Given the description of an element on the screen output the (x, y) to click on. 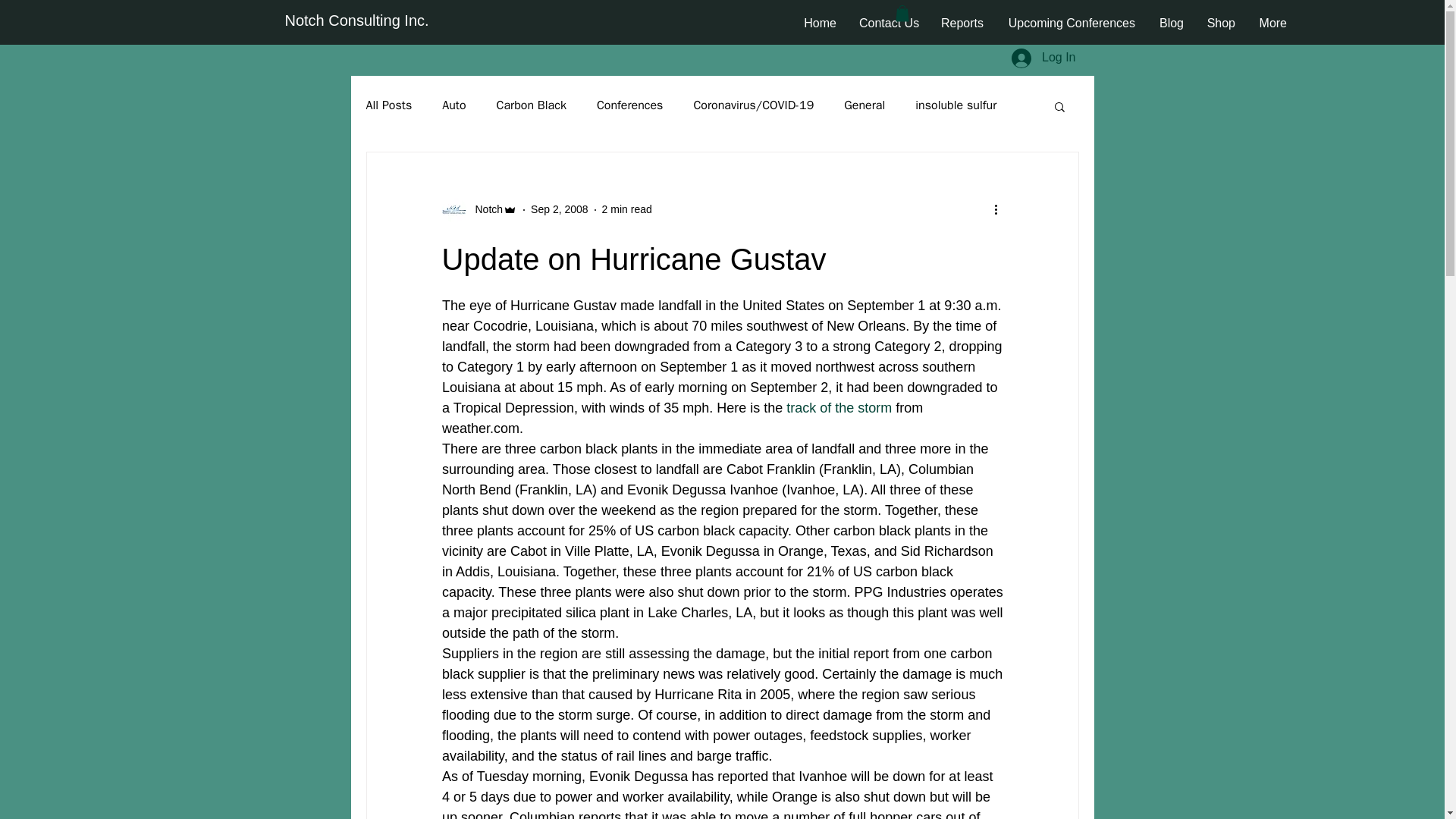
Blog (1171, 23)
Notch  (483, 209)
Conferences (629, 105)
Shop (1220, 23)
Log In (1043, 58)
Reports (962, 23)
Notch (478, 209)
Sep 2, 2008 (559, 209)
Auto (453, 105)
Notch Consulting Inc. (357, 20)
All Posts (388, 105)
General (864, 105)
insoluble sulfur (955, 105)
Contact Us (888, 23)
Home (818, 23)
